Given the description of an element on the screen output the (x, y) to click on. 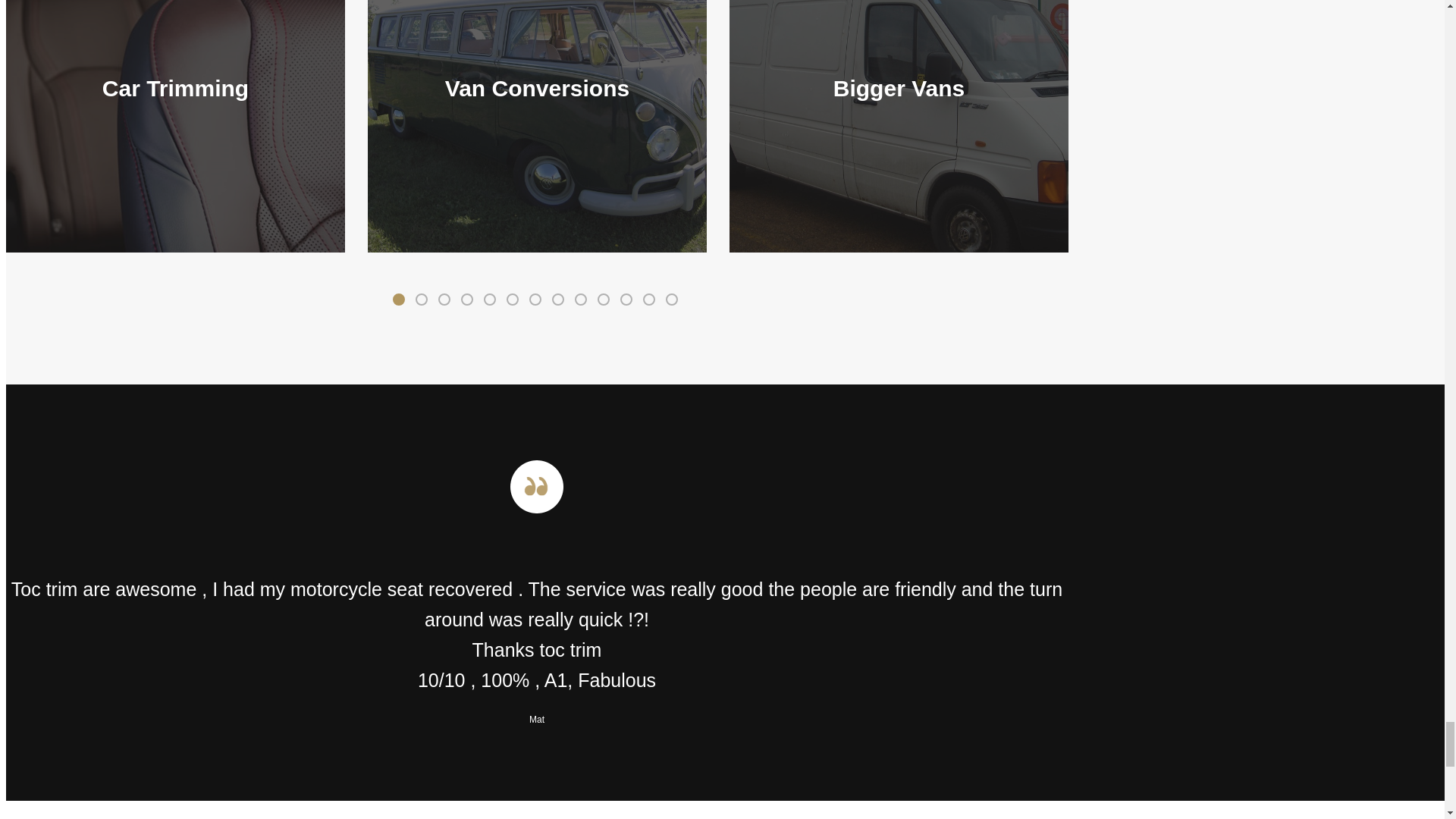
Van Conversions (537, 126)
Bigger Vans (898, 126)
Car Trimming (175, 126)
